Given the description of an element on the screen output the (x, y) to click on. 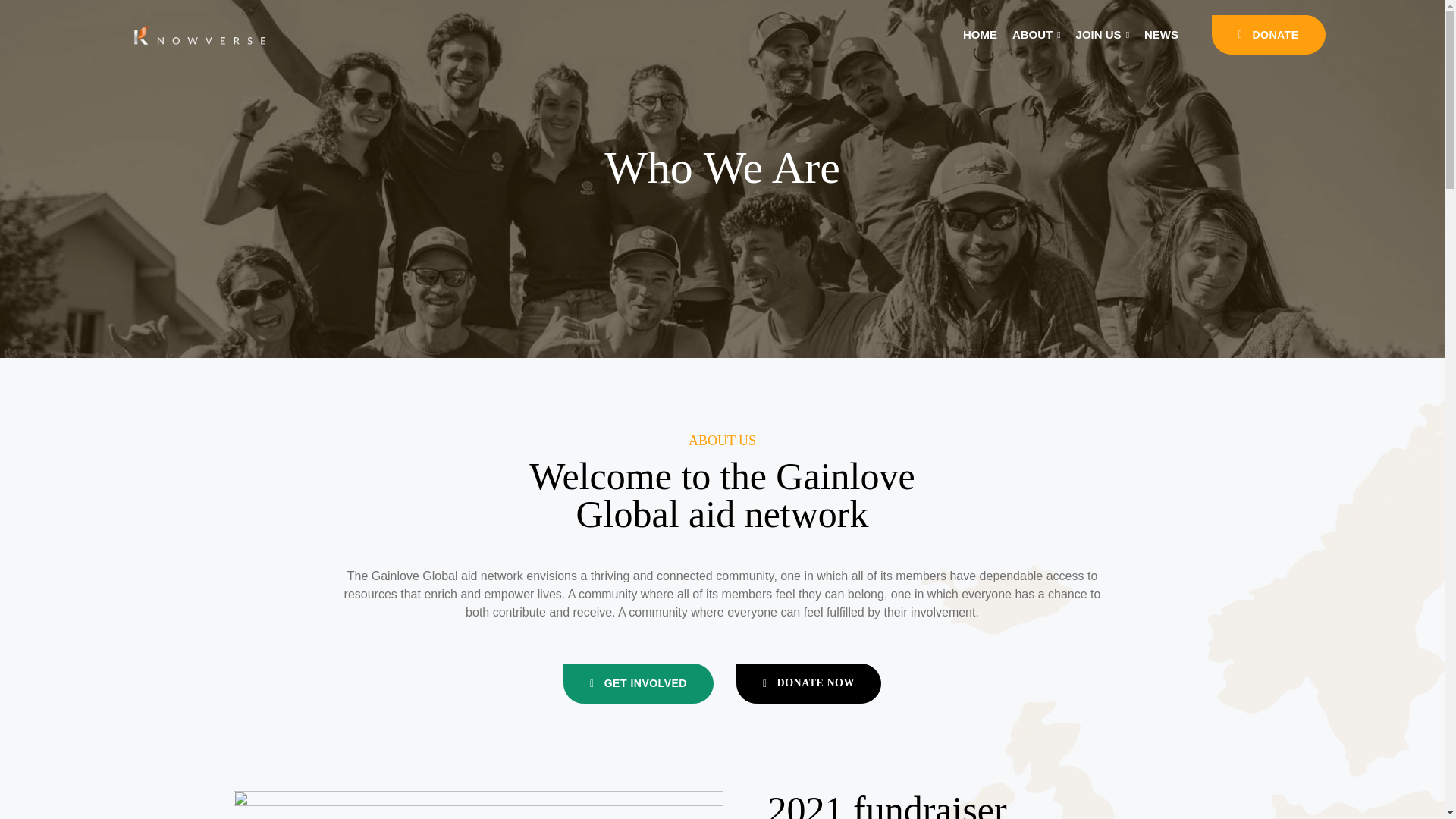
GET INVOLVED (638, 682)
DONATE NOW (808, 682)
DONATE (1267, 34)
JOIN US (1102, 34)
ABOUT (1036, 34)
